Given the description of an element on the screen output the (x, y) to click on. 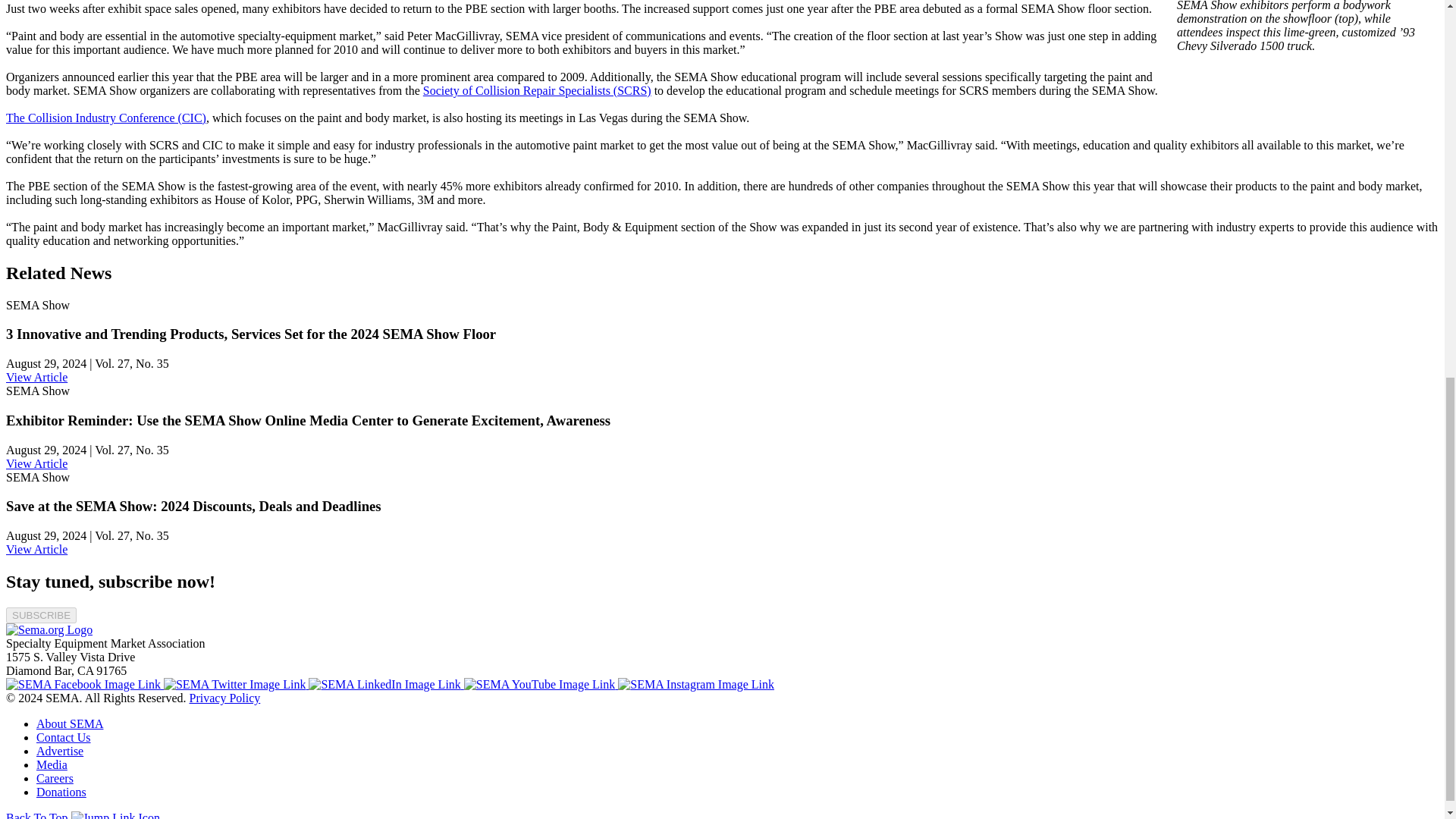
SEMA Instagram Link (695, 684)
SEMA Twitter Link (235, 684)
SUBSCRIBE (41, 615)
Privacy Policy (224, 697)
View Article (35, 377)
View Article (35, 549)
SEMA YouTube Link (540, 684)
SEMA Facebook Link (84, 684)
Save at the SEMA Show: 2024 Discounts, Deals and Deadlines (35, 549)
